Given the description of an element on the screen output the (x, y) to click on. 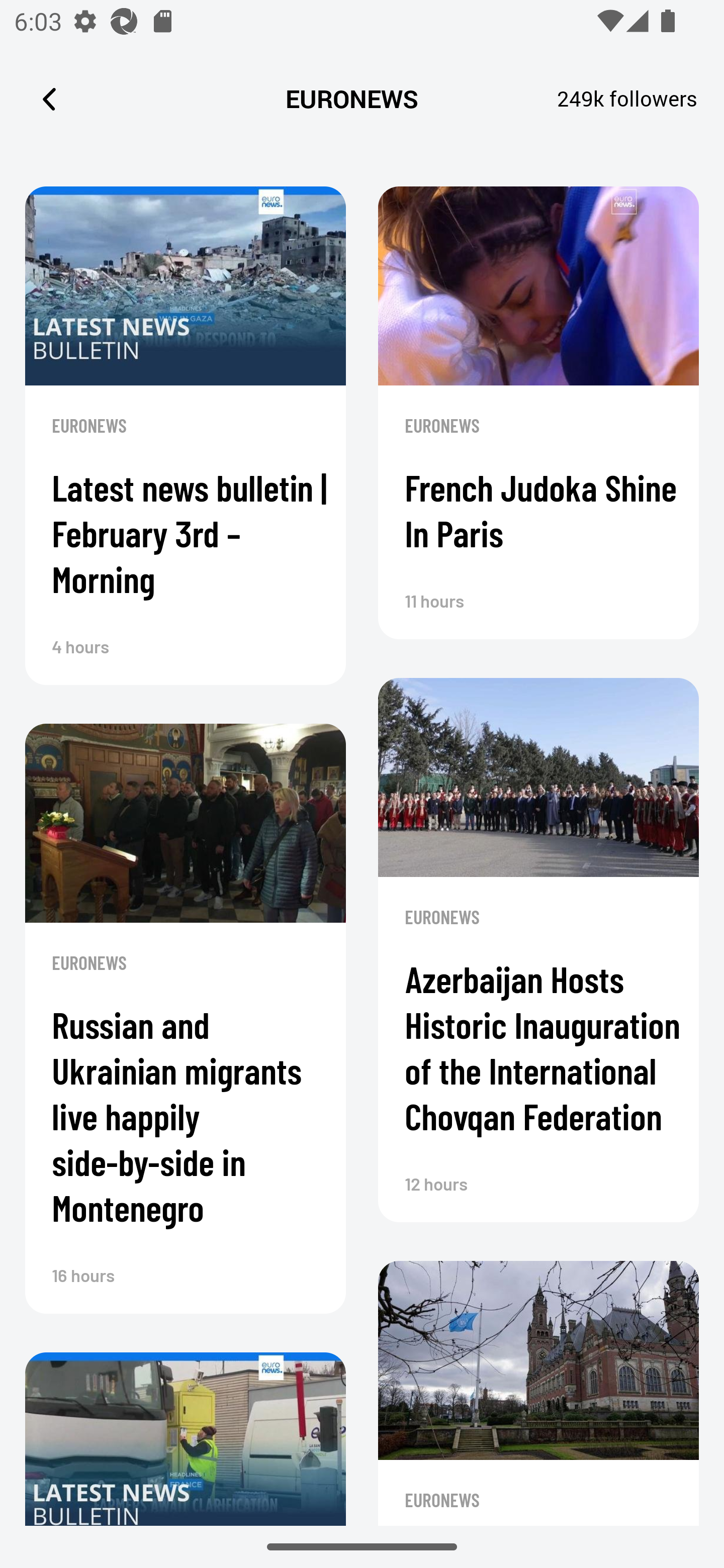
Leading Icon (49, 98)
